Given the description of an element on the screen output the (x, y) to click on. 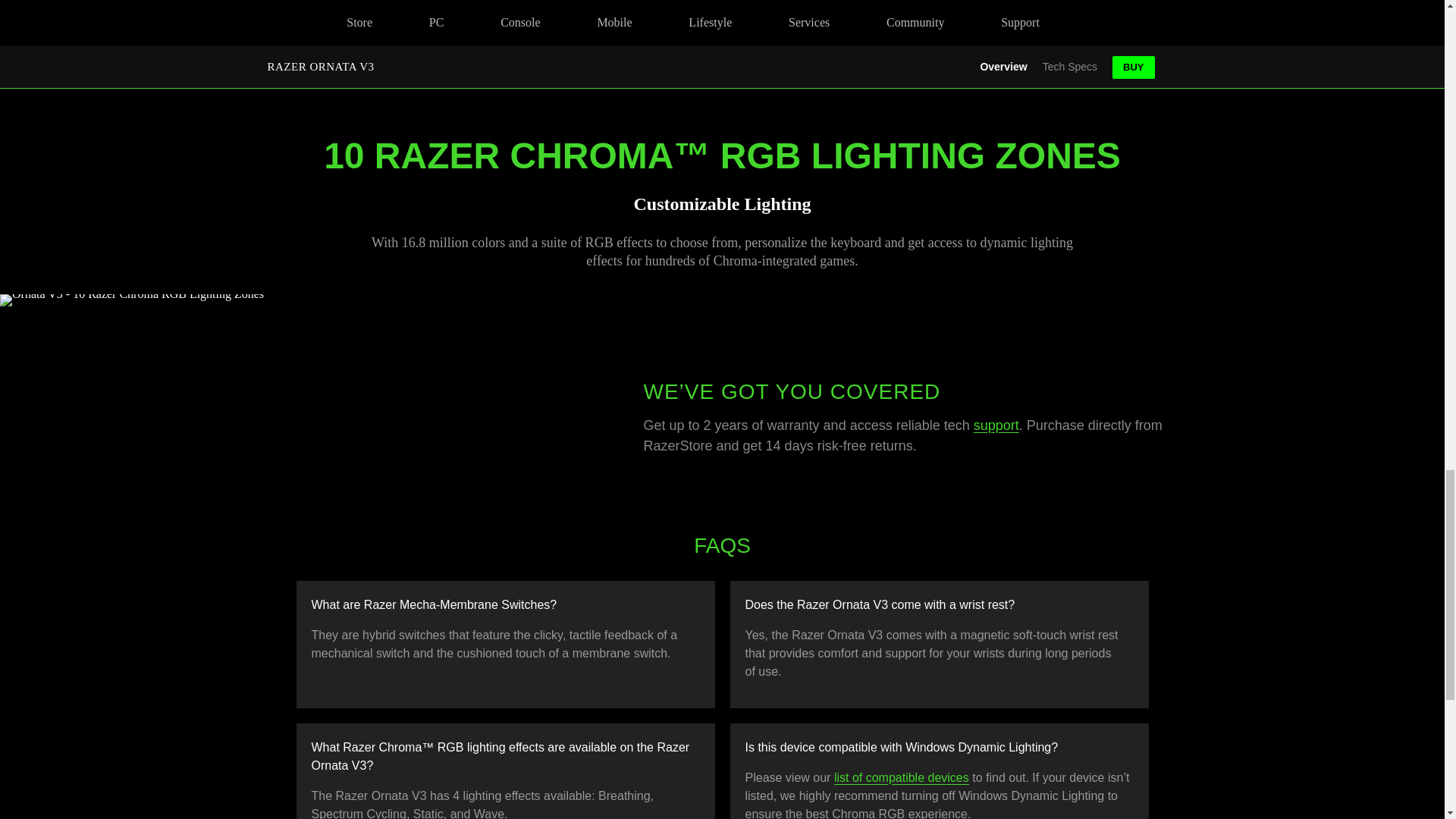
list of compatible devices (901, 777)
support (996, 425)
